Given the description of an element on the screen output the (x, y) to click on. 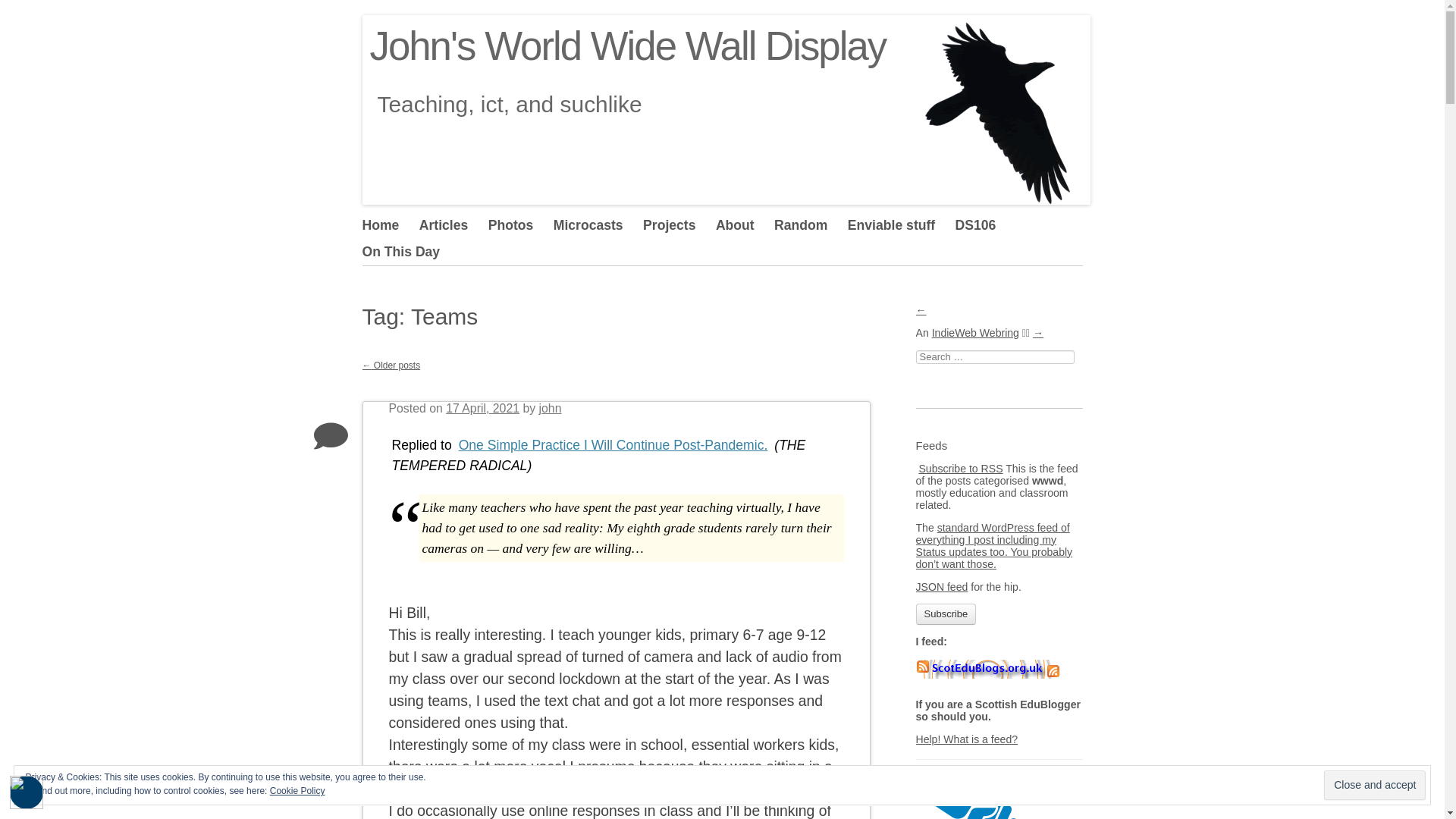
Enviable stuff (901, 225)
Skip to content (370, 251)
Accessibility Menu (26, 792)
Close and accept (1374, 785)
DS106 (985, 225)
One Simple Practice I Will Continue Post-Pandemic. (613, 444)
Articles (453, 225)
Main menu (442, 261)
Skip to content (370, 251)
17 April, 2021 (482, 408)
Random (810, 225)
Projects (679, 225)
On This Day (411, 252)
john (550, 408)
Subscribe (945, 613)
